Given the description of an element on the screen output the (x, y) to click on. 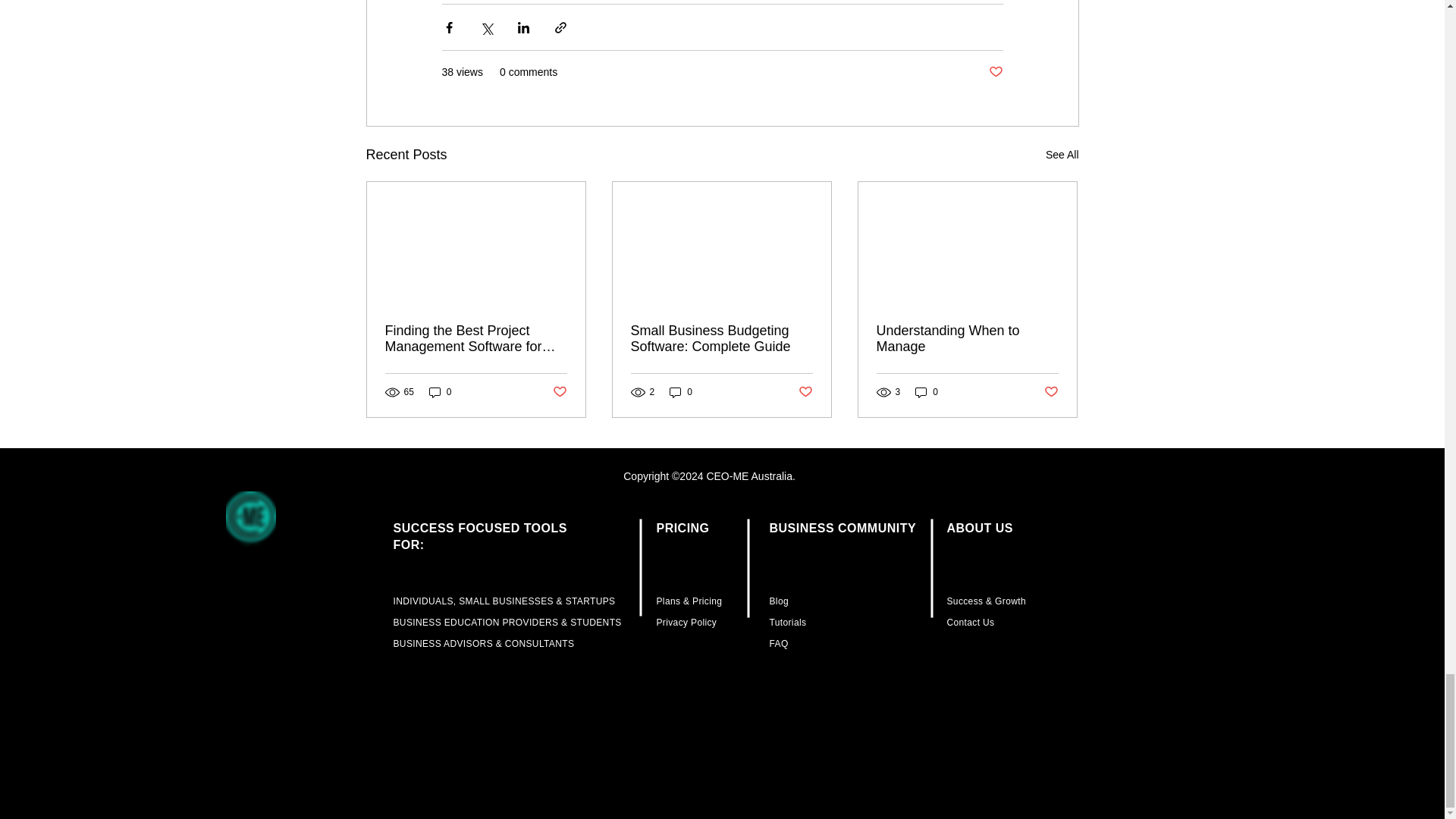
Post not marked as liked (804, 392)
0 (926, 391)
SUCCESS FOCUSED TOOLS FOR: (479, 536)
Small Business Budgeting Software: Complete Guide (721, 338)
0 (681, 391)
See All (1061, 155)
Post not marked as liked (1050, 392)
Post not marked as liked (558, 392)
Post not marked as liked (995, 72)
